Given the description of an element on the screen output the (x, y) to click on. 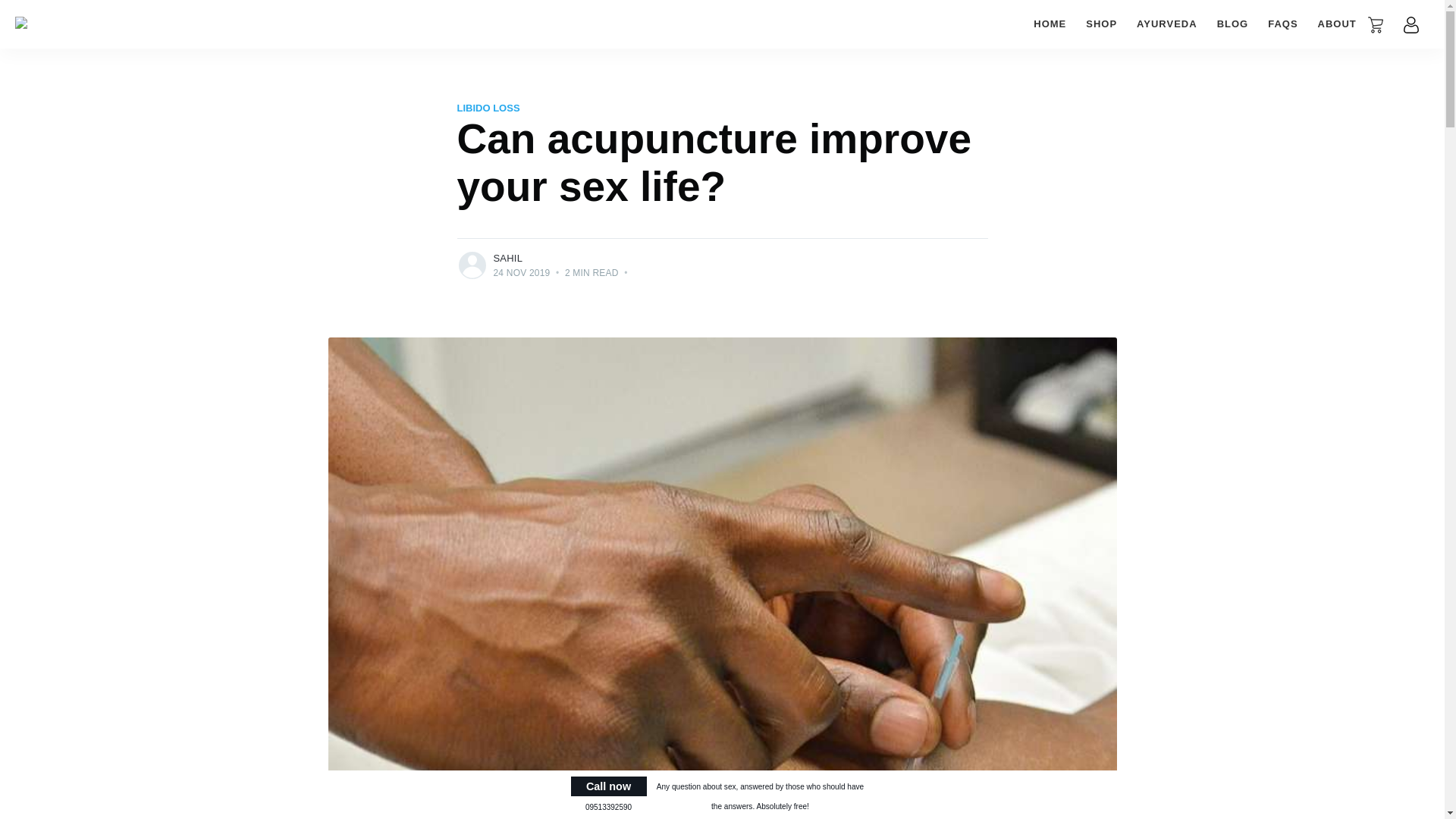
Profile (1410, 24)
Cart (1375, 24)
SHOP (1101, 24)
ABOUT (1336, 24)
HOME (1049, 24)
BLOG (1233, 24)
FAQS (1282, 24)
SAHIL (507, 257)
AYURVEDA (1166, 24)
LIBIDO LOSS (488, 108)
